Given the description of an element on the screen output the (x, y) to click on. 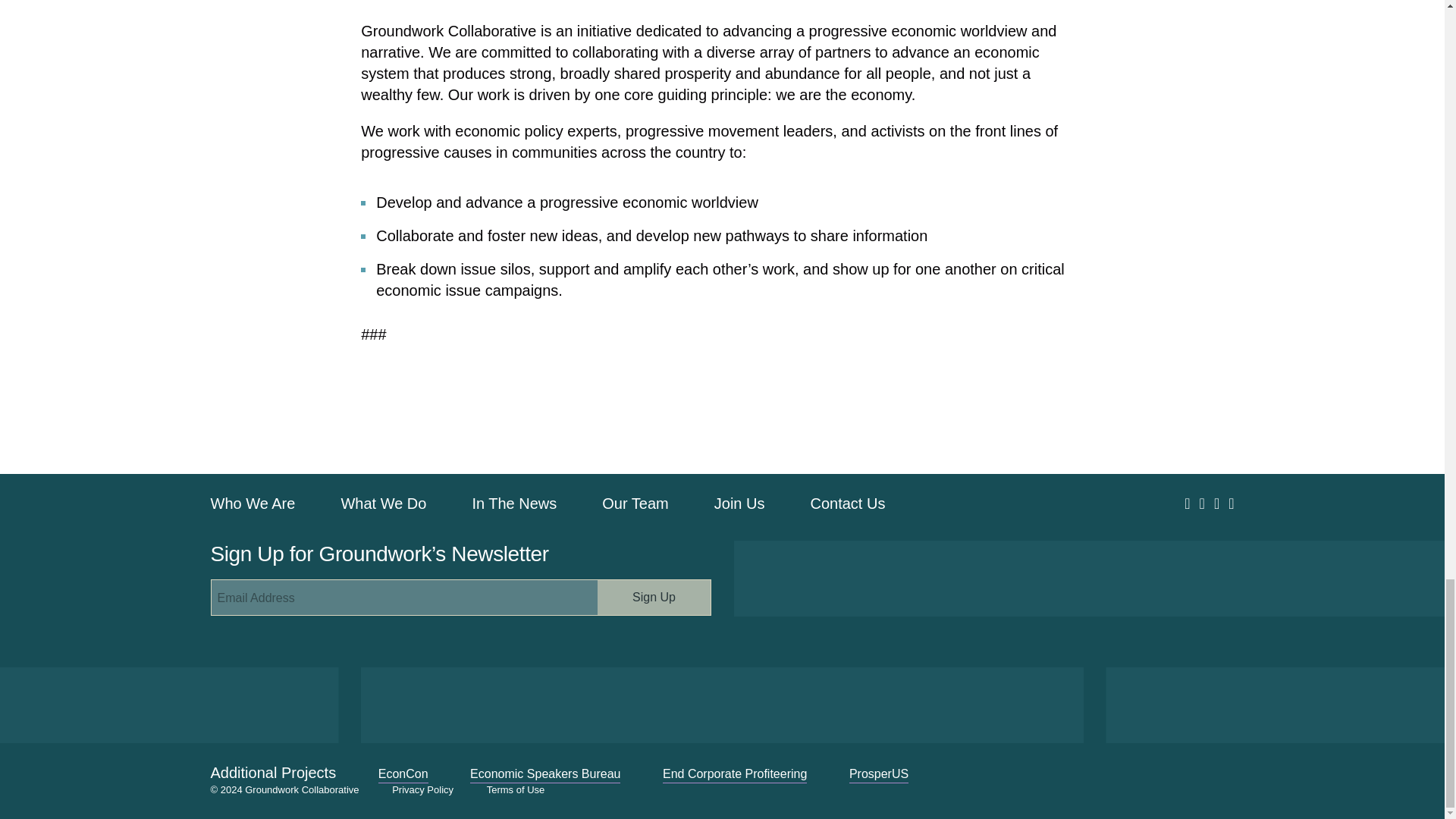
In The News (513, 503)
Privacy Policy (421, 789)
Our Team (635, 503)
Terms of Use (515, 789)
Join Us (739, 503)
Economic Speakers Bureau (545, 773)
EconCon (403, 773)
Sign Up (653, 597)
Sign Up (653, 597)
End Corporate Profiteering (734, 773)
